Given the description of an element on the screen output the (x, y) to click on. 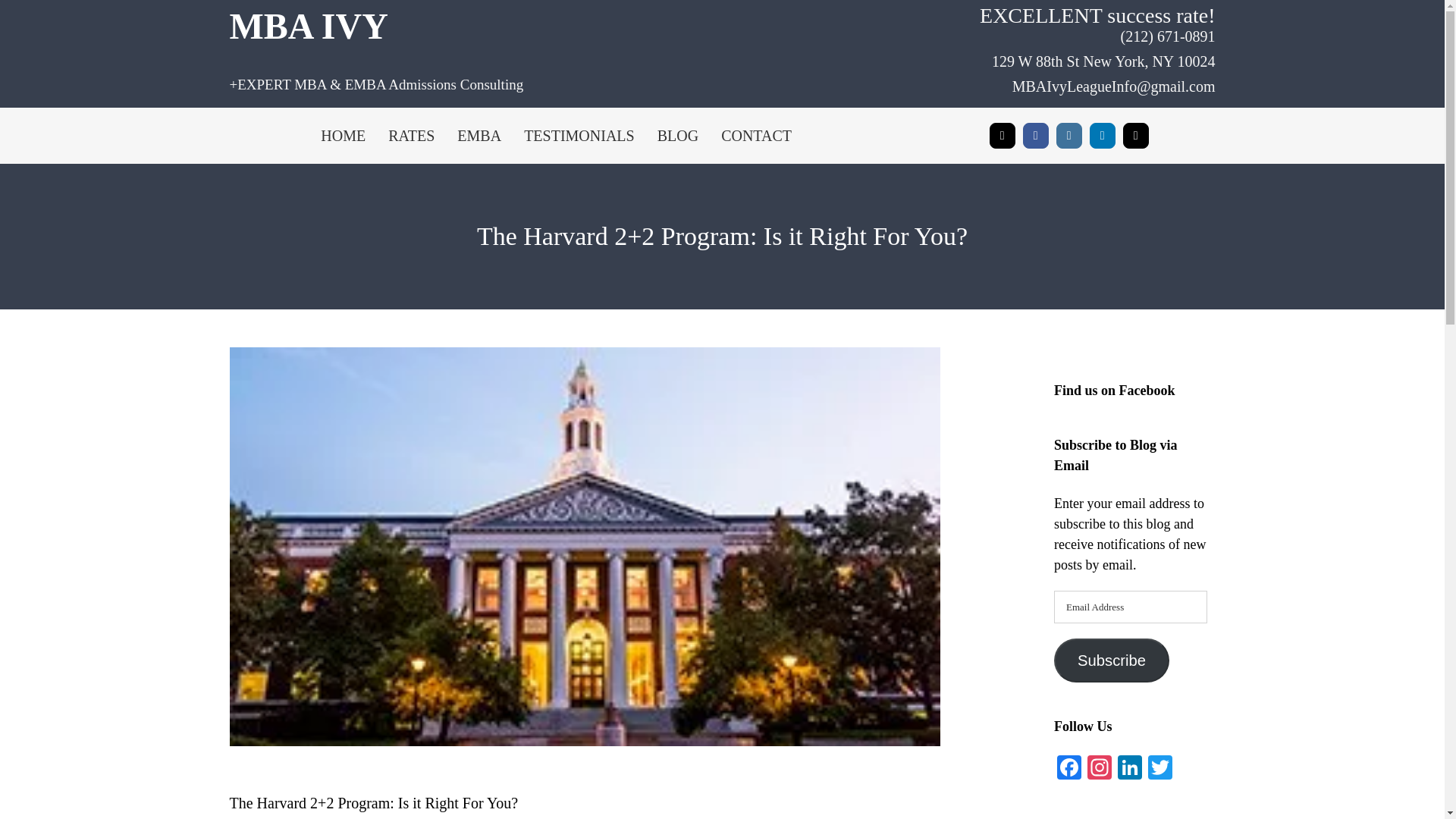
BLOG (678, 135)
X (1002, 135)
CONTACT (756, 135)
Email (1135, 135)
EMBA (478, 135)
Instagram (1069, 135)
LinkedIn (1102, 135)
RATES (410, 135)
HOME (342, 135)
TESTIMONIALS (579, 135)
